Given the description of an element on the screen output the (x, y) to click on. 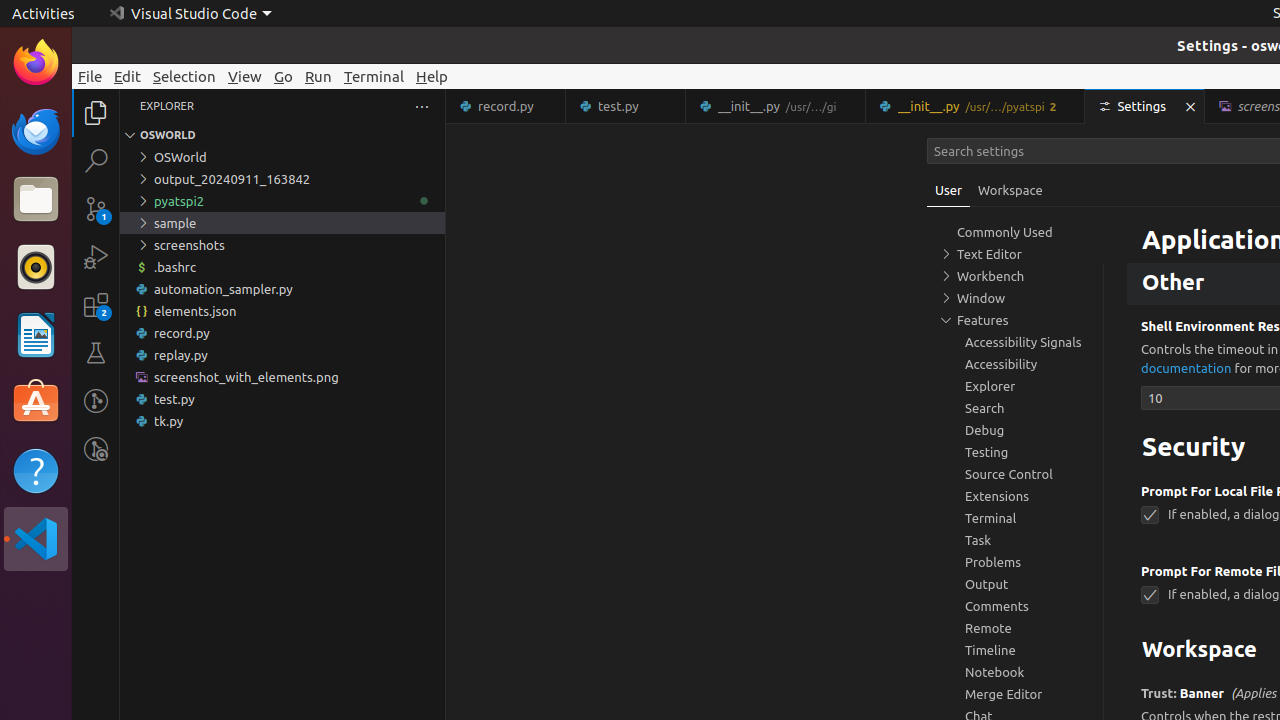
Merge Editor, group Element type: tree-item (1015, 694)
screenshot_with_elements.png Element type: tree-item (282, 377)
Accessibility Signals, group Element type: tree-item (1015, 342)
